Given the description of an element on the screen output the (x, y) to click on. 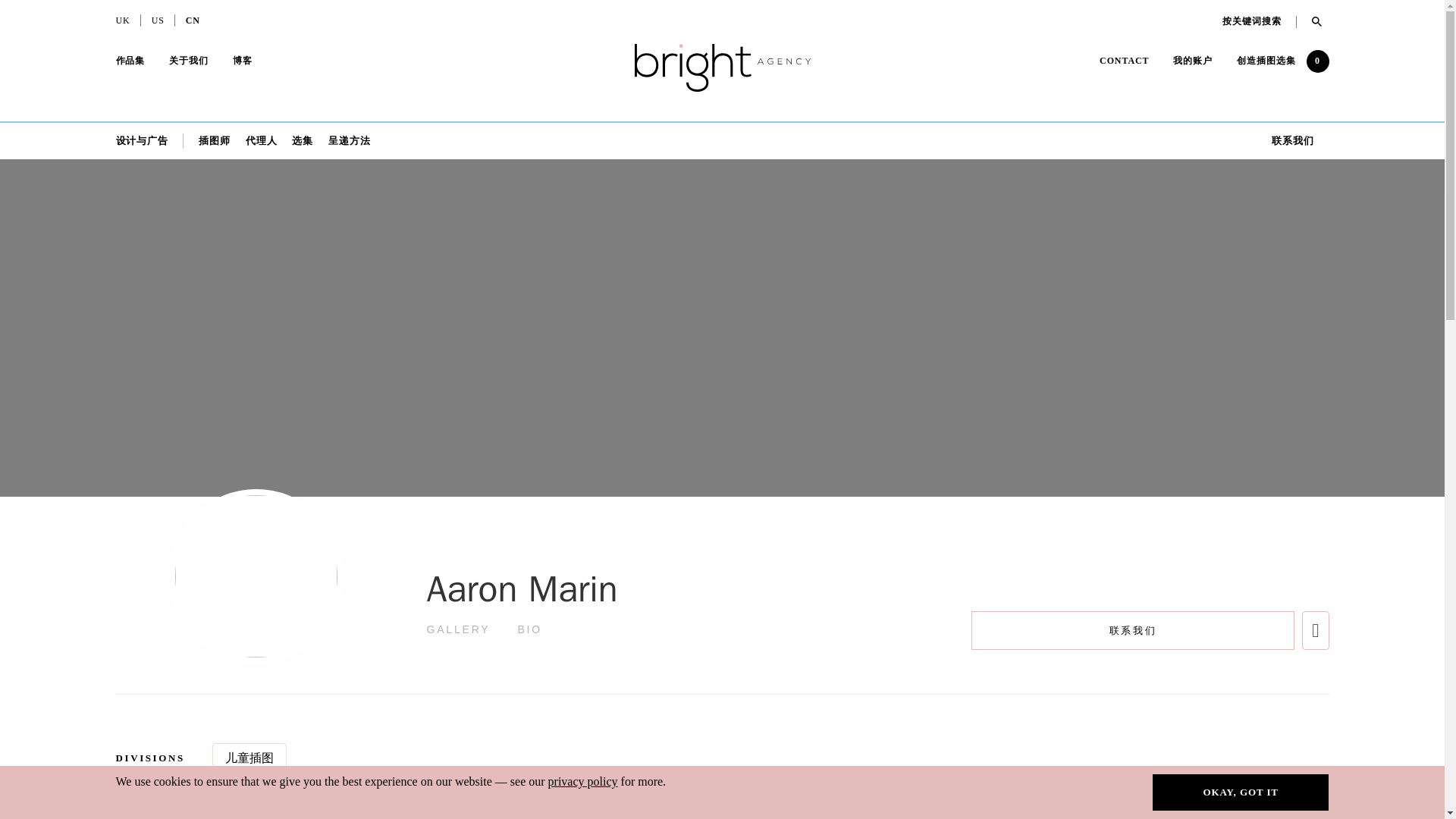
Search (1313, 21)
CN (193, 22)
US (157, 22)
UK (122, 22)
CONTACT (1123, 62)
